Given the description of an element on the screen output the (x, y) to click on. 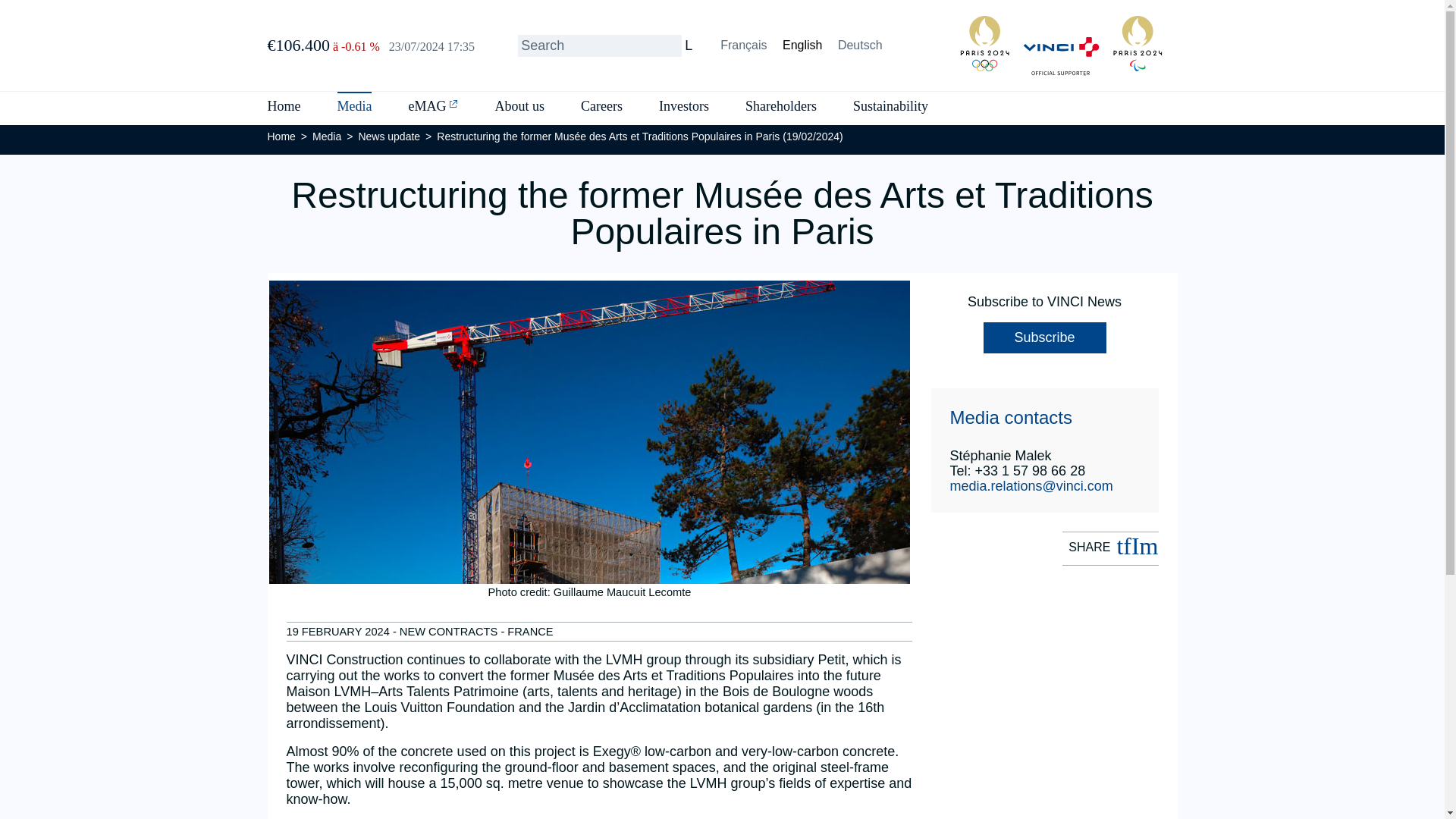
Home (282, 108)
Search (599, 45)
Media (353, 108)
About us (519, 108)
eMAG (426, 108)
